Given the description of an element on the screen output the (x, y) to click on. 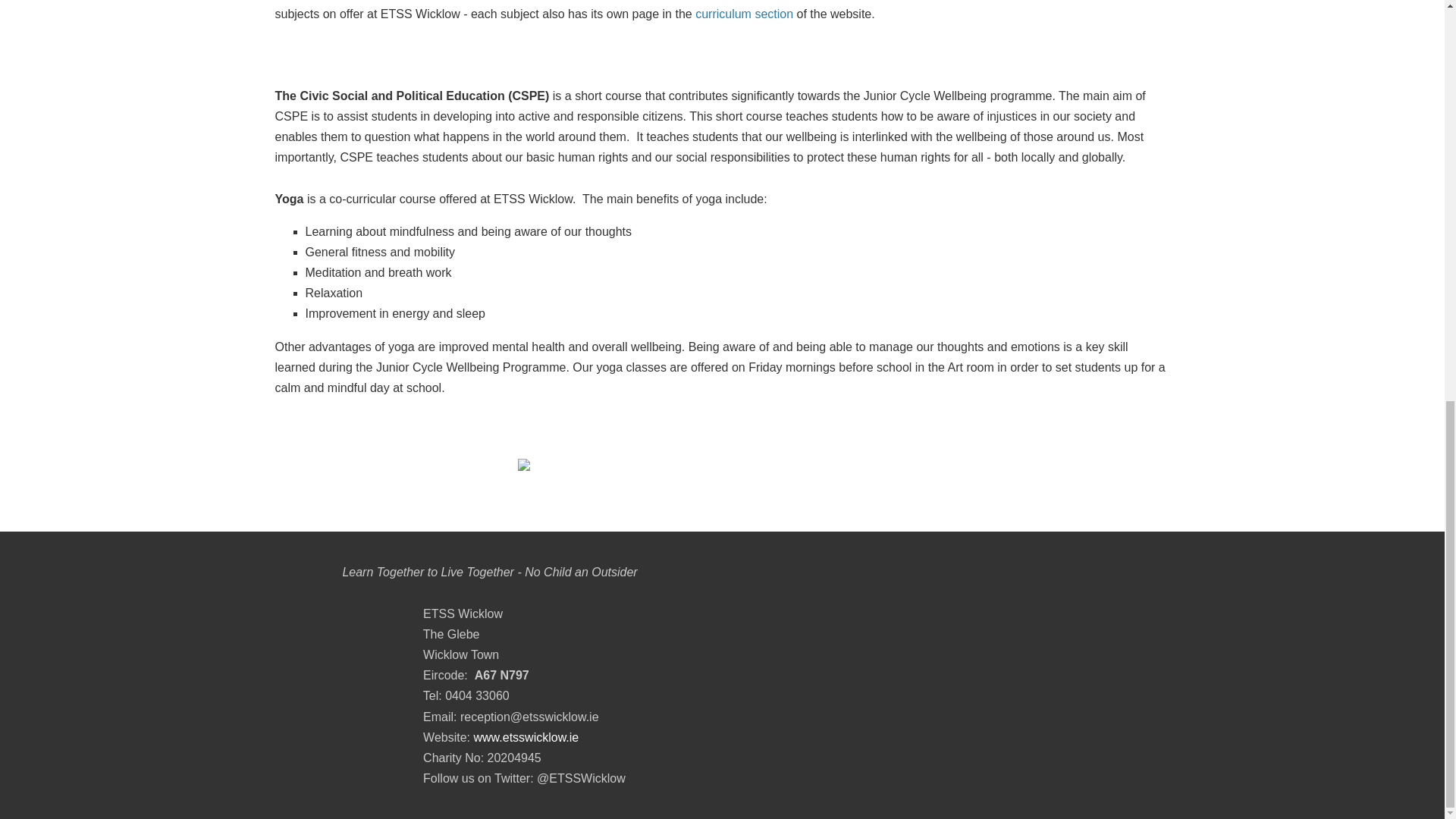
Facebook (1120, 768)
Instagram (1153, 768)
Twitter (1086, 768)
